Given the description of an element on the screen output the (x, y) to click on. 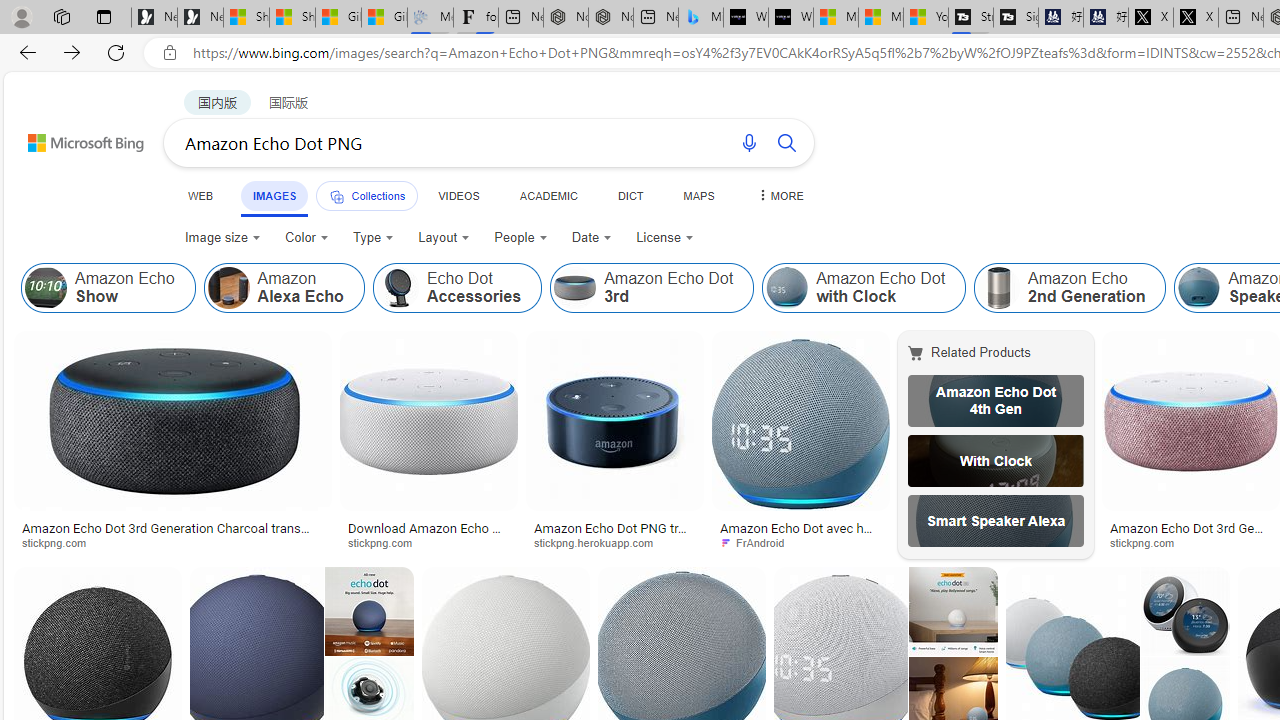
Search button (786, 142)
Smart Speaker Alexa Echo Dot (995, 521)
Forward (72, 52)
Color (305, 237)
Echo Dot Accessories (456, 287)
DICT (630, 195)
Image result for Amazon Echo Dot PNG (1185, 611)
Amazon Alexa Echo (228, 287)
